Given the description of an element on the screen output the (x, y) to click on. 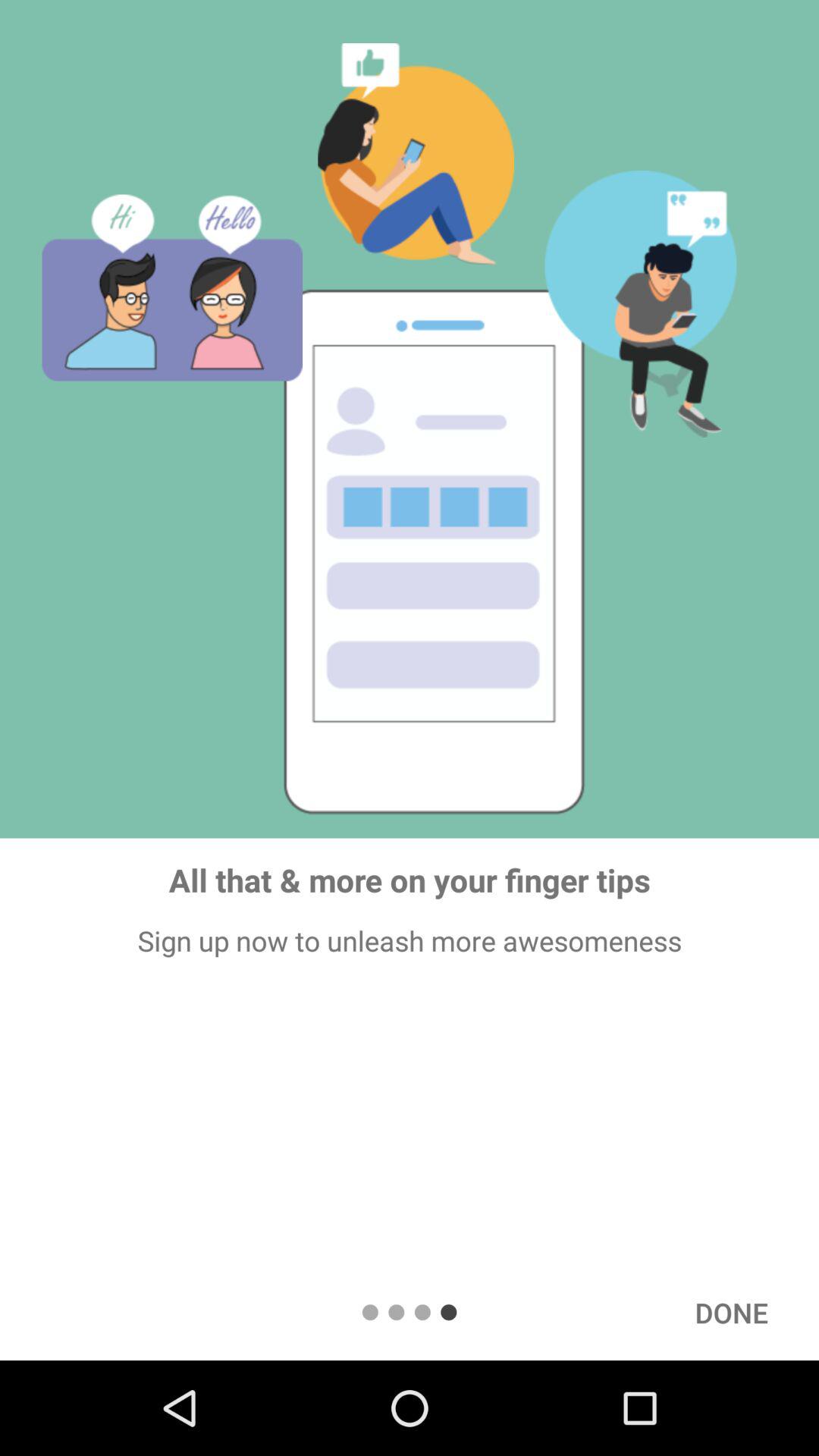
open done icon (731, 1312)
